Given the description of an element on the screen output the (x, y) to click on. 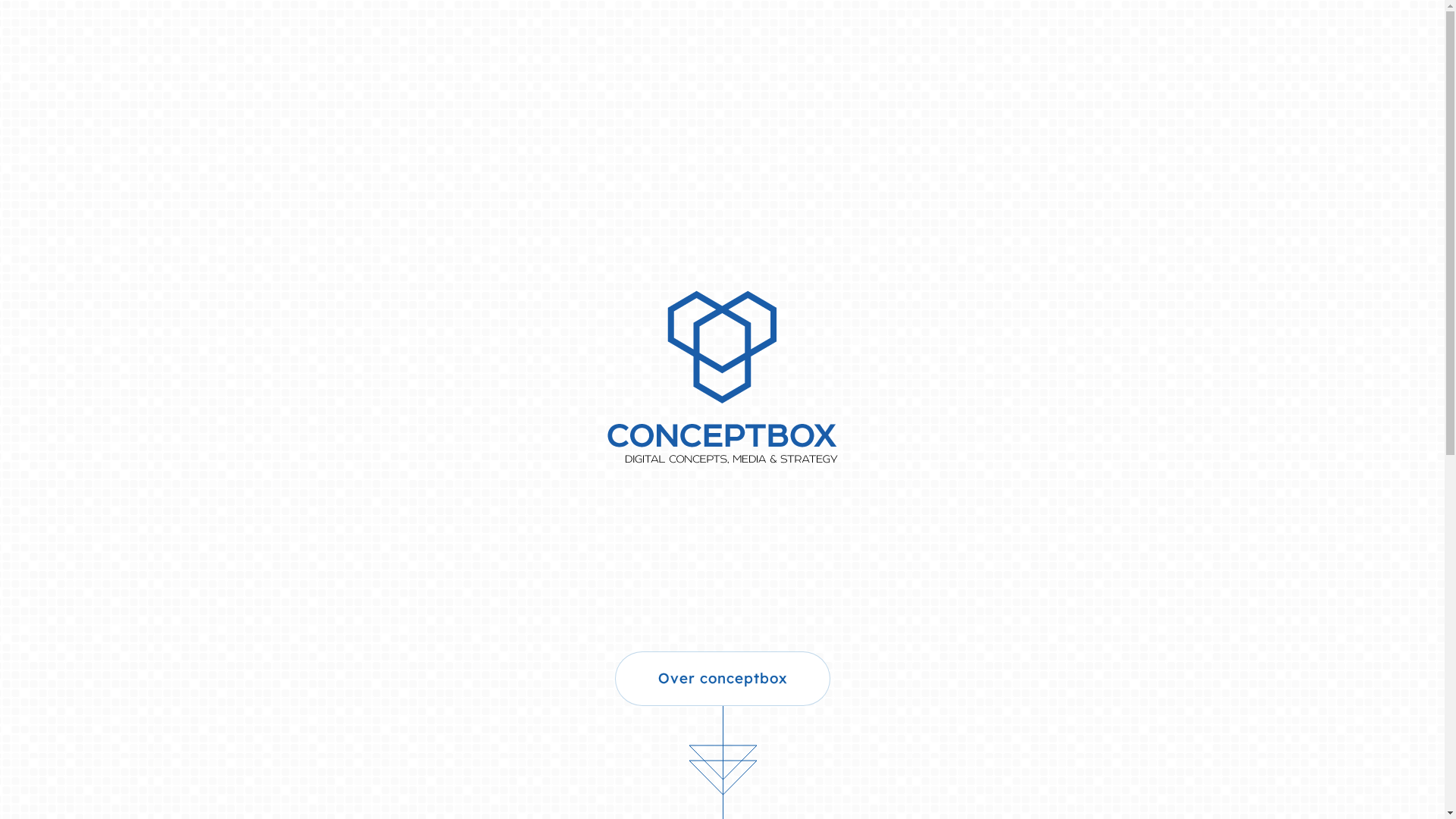
Over conceptbox Element type: text (721, 678)
